Given the description of an element on the screen output the (x, y) to click on. 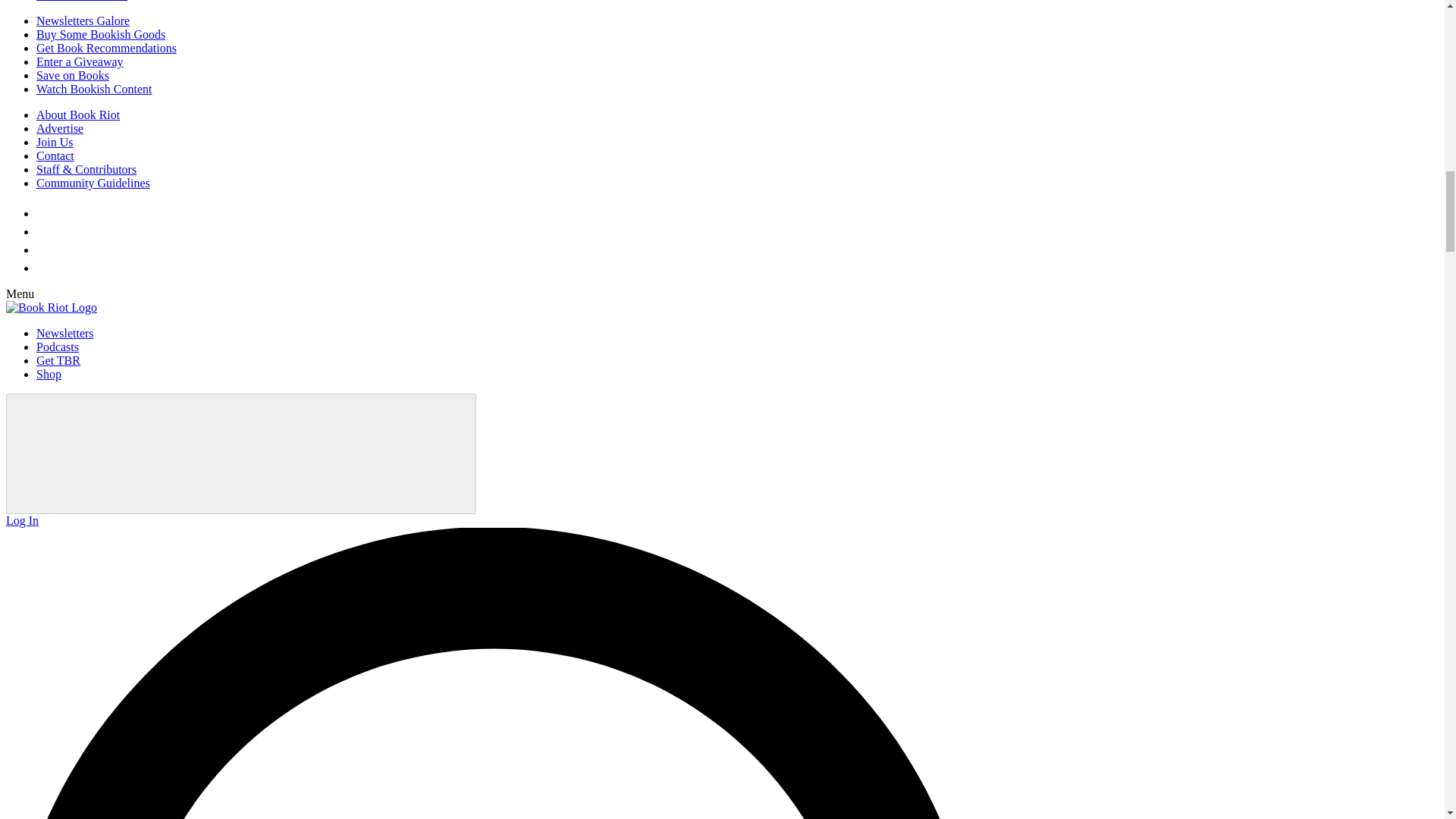
Join Us (54, 141)
Community Guidelines (92, 182)
Get Book Recommendations (106, 47)
Shop (48, 373)
Advertise (59, 128)
Contact (55, 155)
About Book Riot (77, 114)
Buy Some Bookish Goods (100, 33)
Newsletters (65, 332)
Podcasts (57, 346)
